Given the description of an element on the screen output the (x, y) to click on. 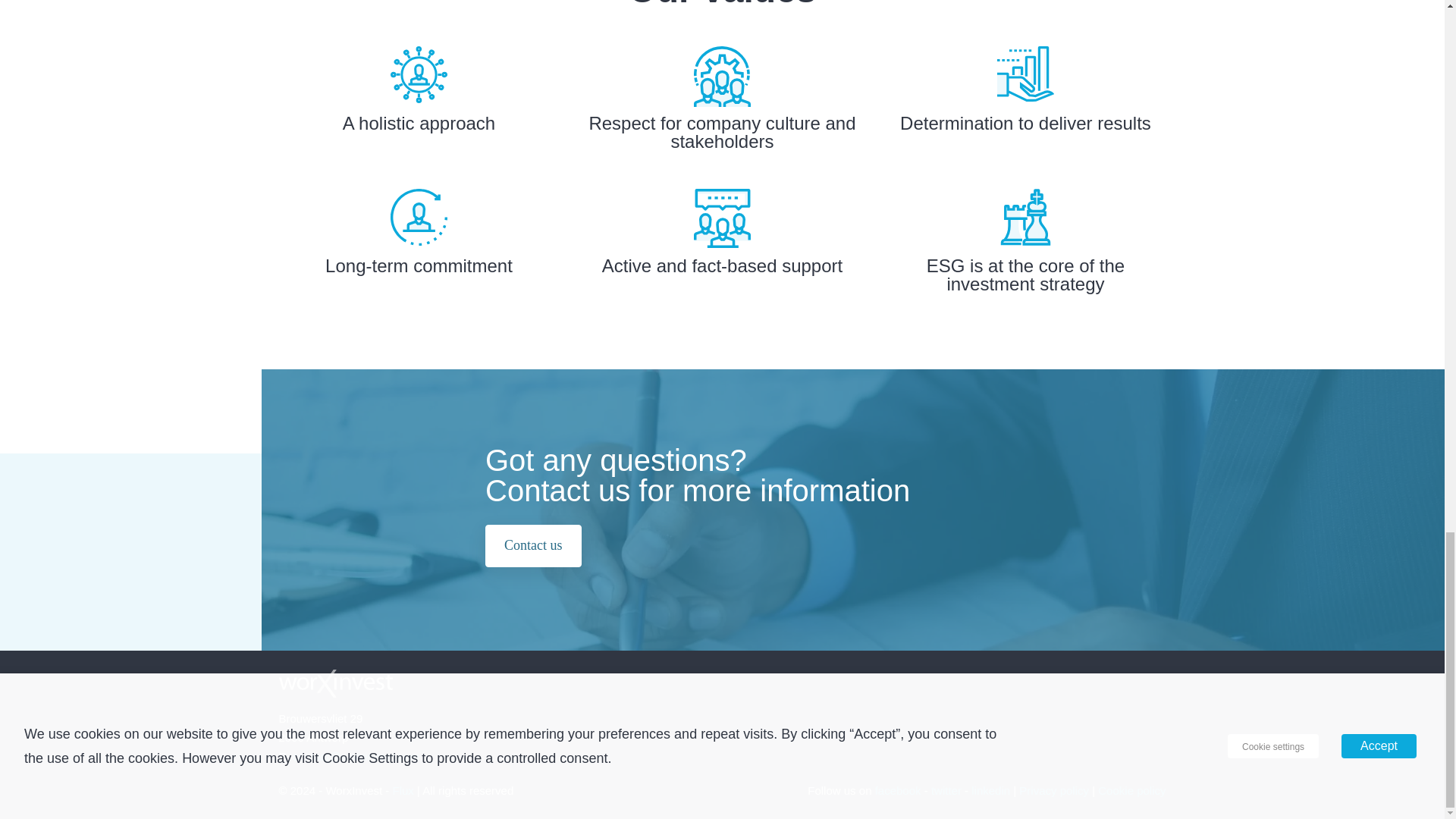
approach (418, 74)
Cookie policy (1131, 789)
commitment (418, 217)
Contact us (532, 545)
stakeholder (722, 76)
Privacy policy (1054, 789)
facebook (898, 789)
linkedin (990, 789)
test (1025, 73)
Flux (403, 789)
